Given the description of an element on the screen output the (x, y) to click on. 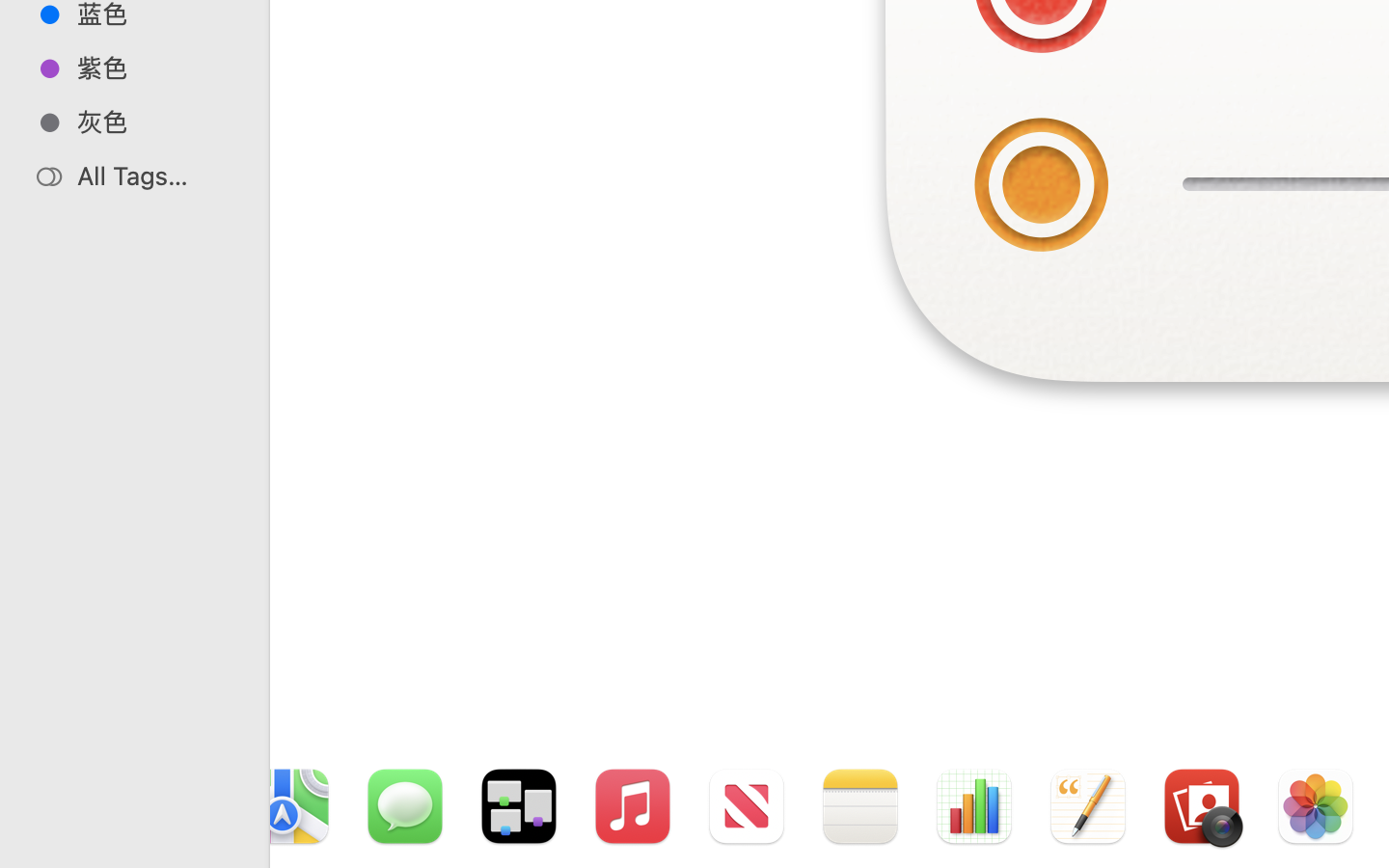
Applications Element type: AXStaticText (875, 786)
0 Element type: AXRadioButton (23, 846)
All Tags… Element type: AXStaticText (155, 175)
Tags… Element type: AXStaticText (41, 852)
紫色 Element type: AXStaticText (155, 67)
